Given the description of an element on the screen output the (x, y) to click on. 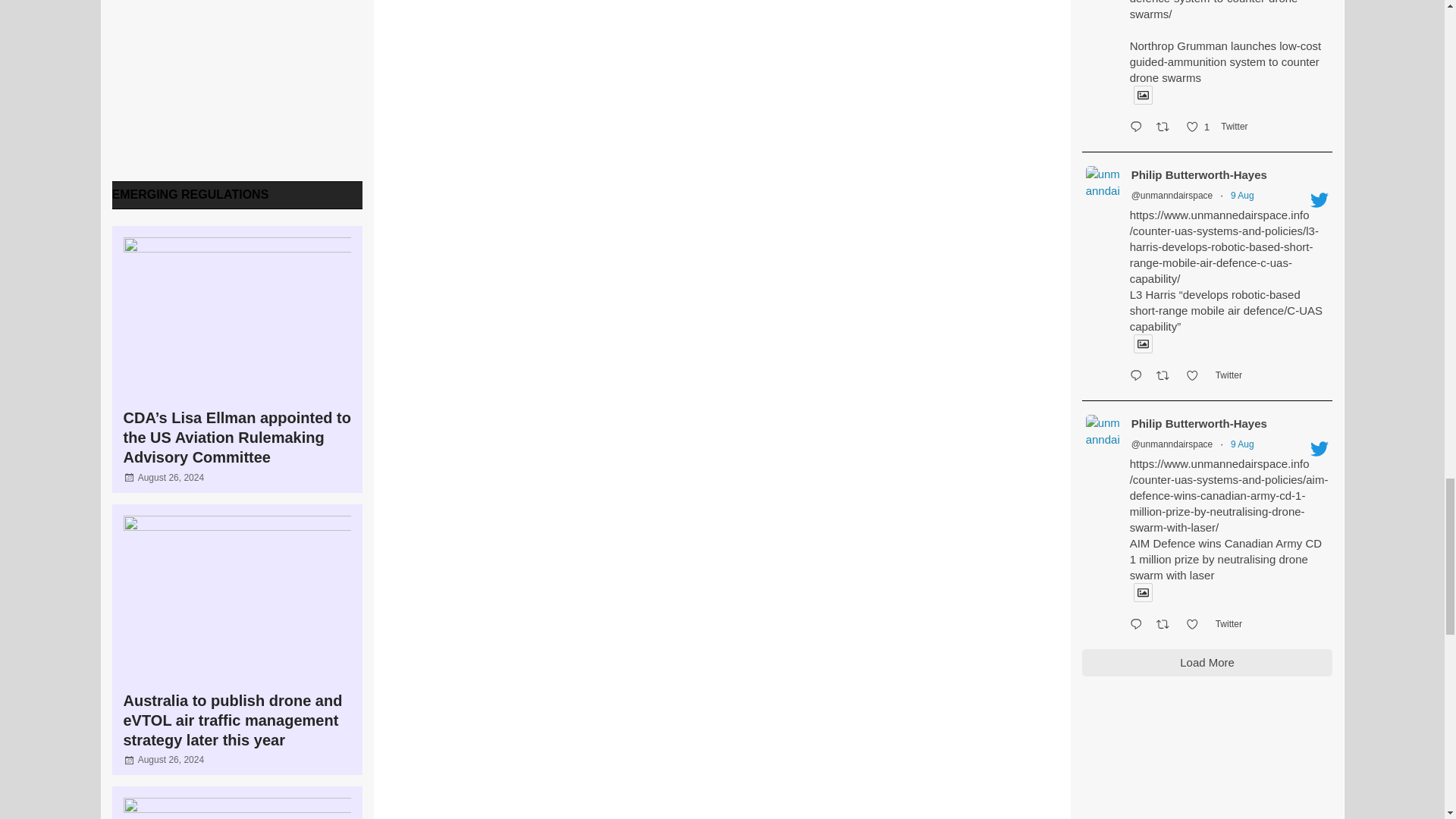
12:02 pm (170, 759)
View all posts from category Emerging regulations (190, 194)
7:25 pm (170, 476)
